Given the description of an element on the screen output the (x, y) to click on. 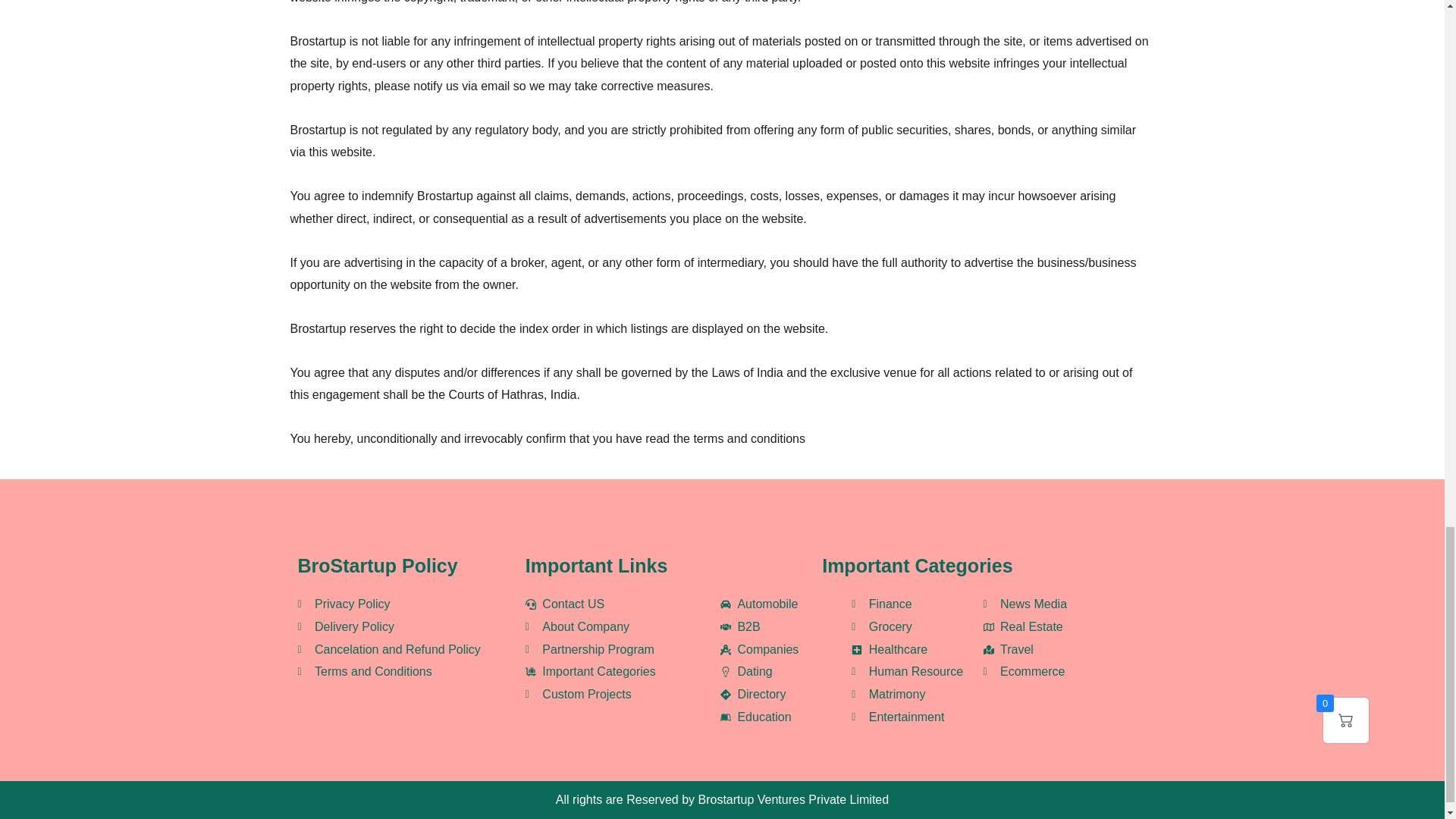
Contact US (601, 603)
Grocery (916, 626)
Custom Projects (601, 694)
Education (785, 716)
Delivery Policy (390, 626)
Privacy Policy (390, 603)
About Company (601, 626)
Important Categories (601, 671)
Dating (785, 671)
Automobile (785, 603)
Terms and Conditions (390, 671)
Healthcare (916, 649)
Cancelation and Refund Policy (390, 649)
Finance (916, 603)
Directory (785, 694)
